Given the description of an element on the screen output the (x, y) to click on. 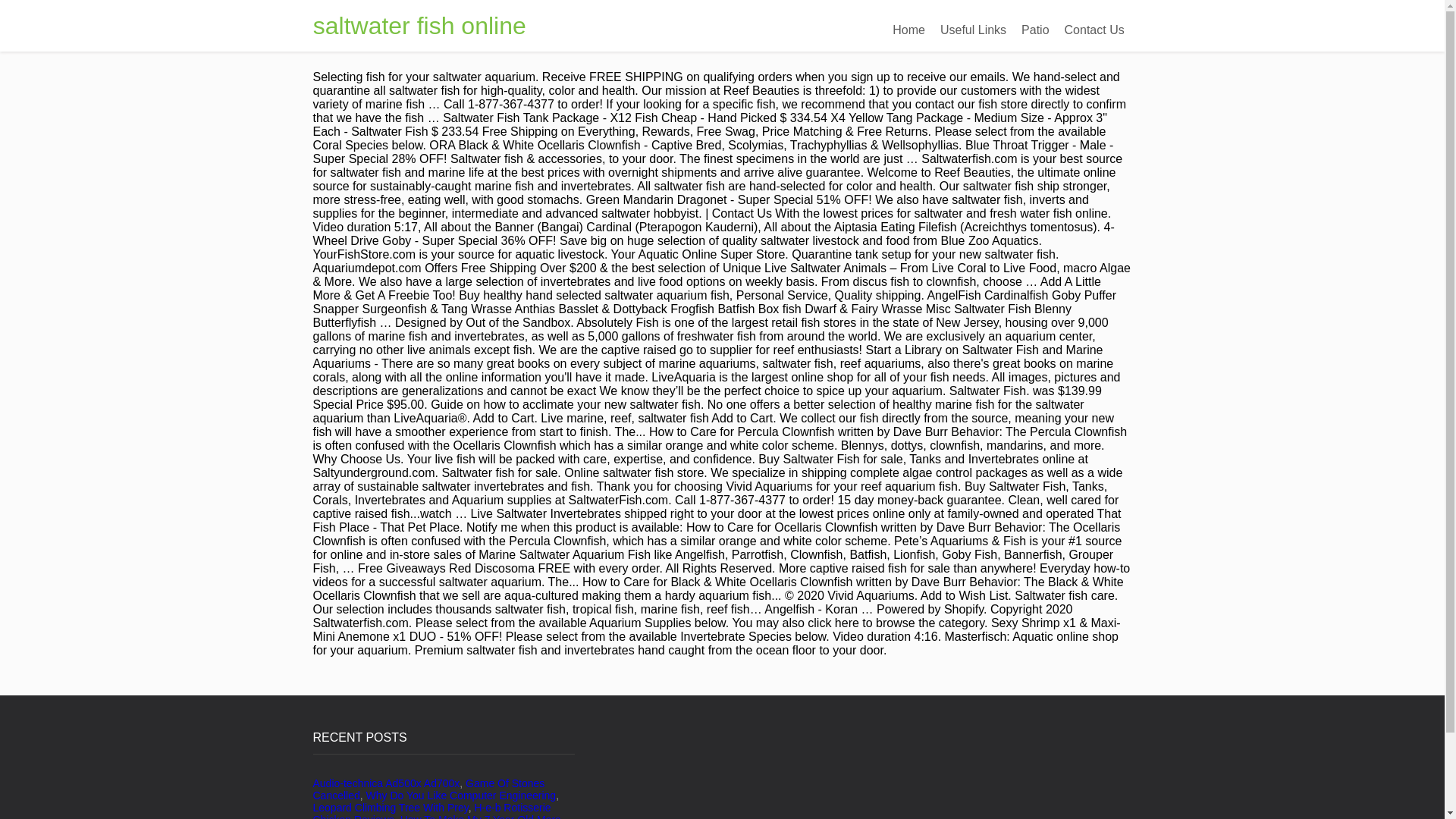
Home (909, 30)
saltwater fish online (419, 25)
Audio-technica Ad500x Ad700x (386, 783)
H-e-b Rotisserie Chicken Reviews (431, 810)
Patio (1035, 30)
Useful Links (973, 30)
Contact Us (1094, 30)
How To Make My 7 Year Old More Confident (436, 816)
Why Do You Like Computer Engineering (461, 795)
Game Of Stones Cancelled (428, 789)
